Given the description of an element on the screen output the (x, y) to click on. 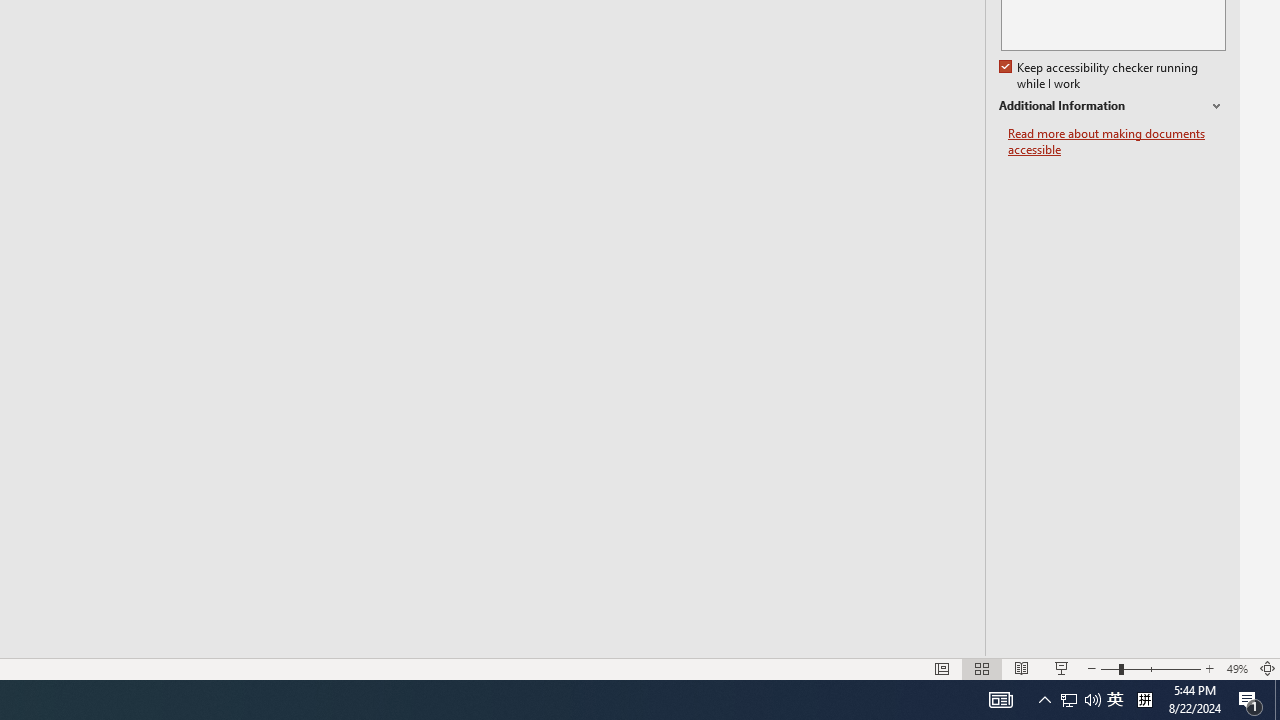
Read more about making documents accessible (1117, 142)
Additional Information (1112, 106)
Keep accessibility checker running while I work (1099, 76)
Zoom 49% (1236, 668)
